Given the description of an element on the screen output the (x, y) to click on. 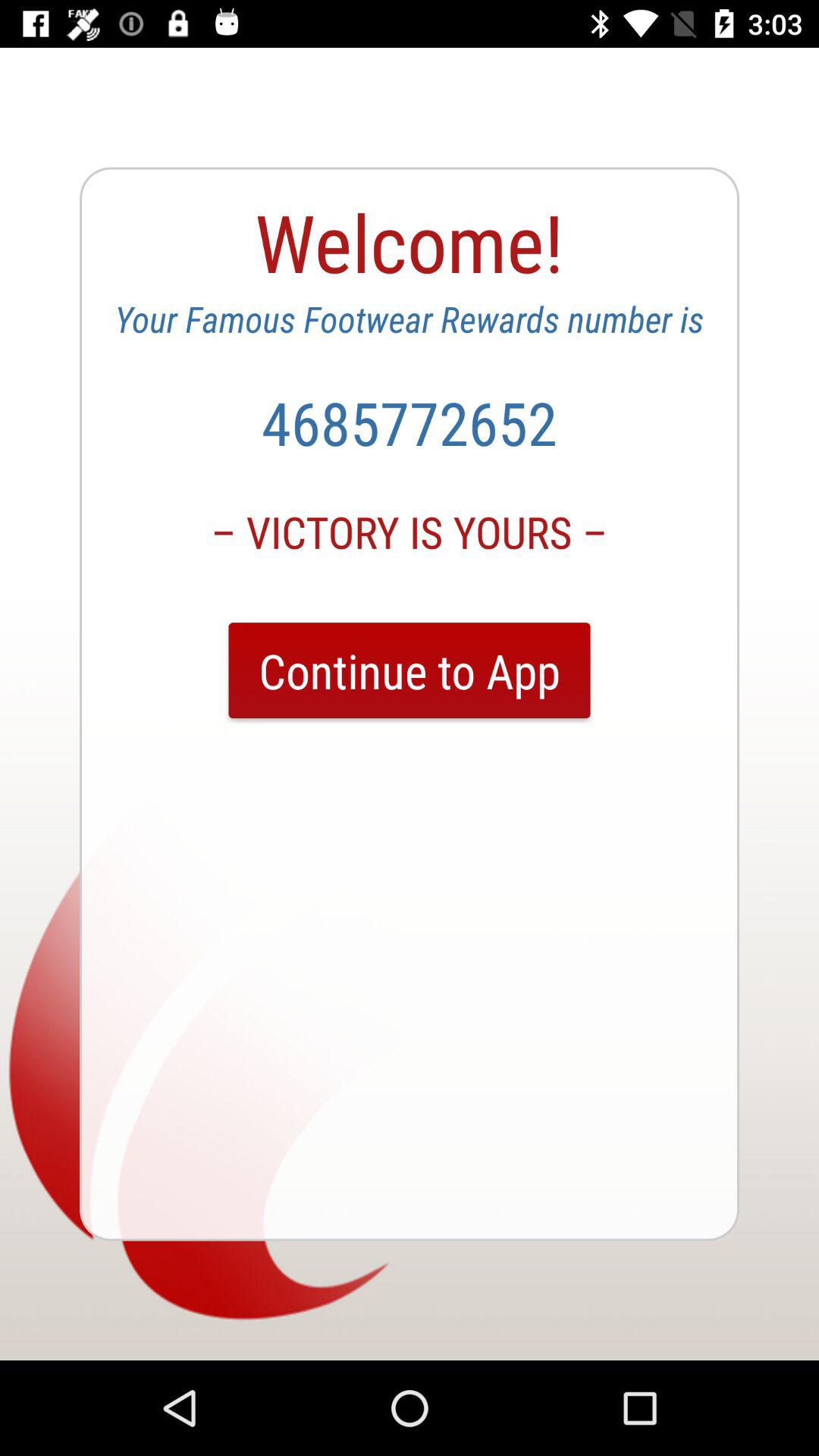
jump to continue to app icon (409, 670)
